Given the description of an element on the screen output the (x, y) to click on. 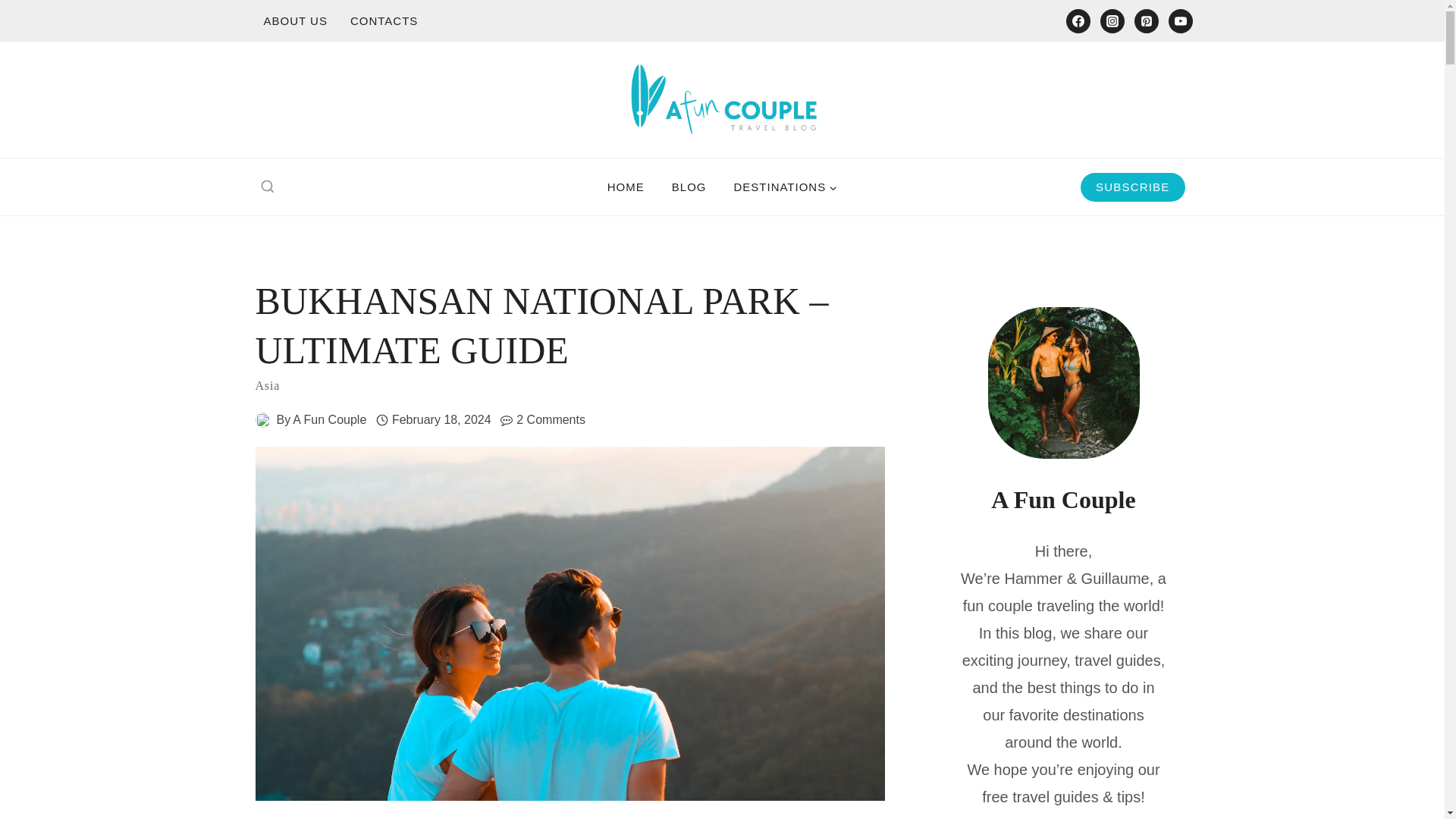
ABOUT US (294, 20)
CONTACTS (384, 20)
DESTINATIONS (784, 186)
2 Comments (550, 420)
HOME (626, 186)
BLOG (689, 186)
